Given the description of an element on the screen output the (x, y) to click on. 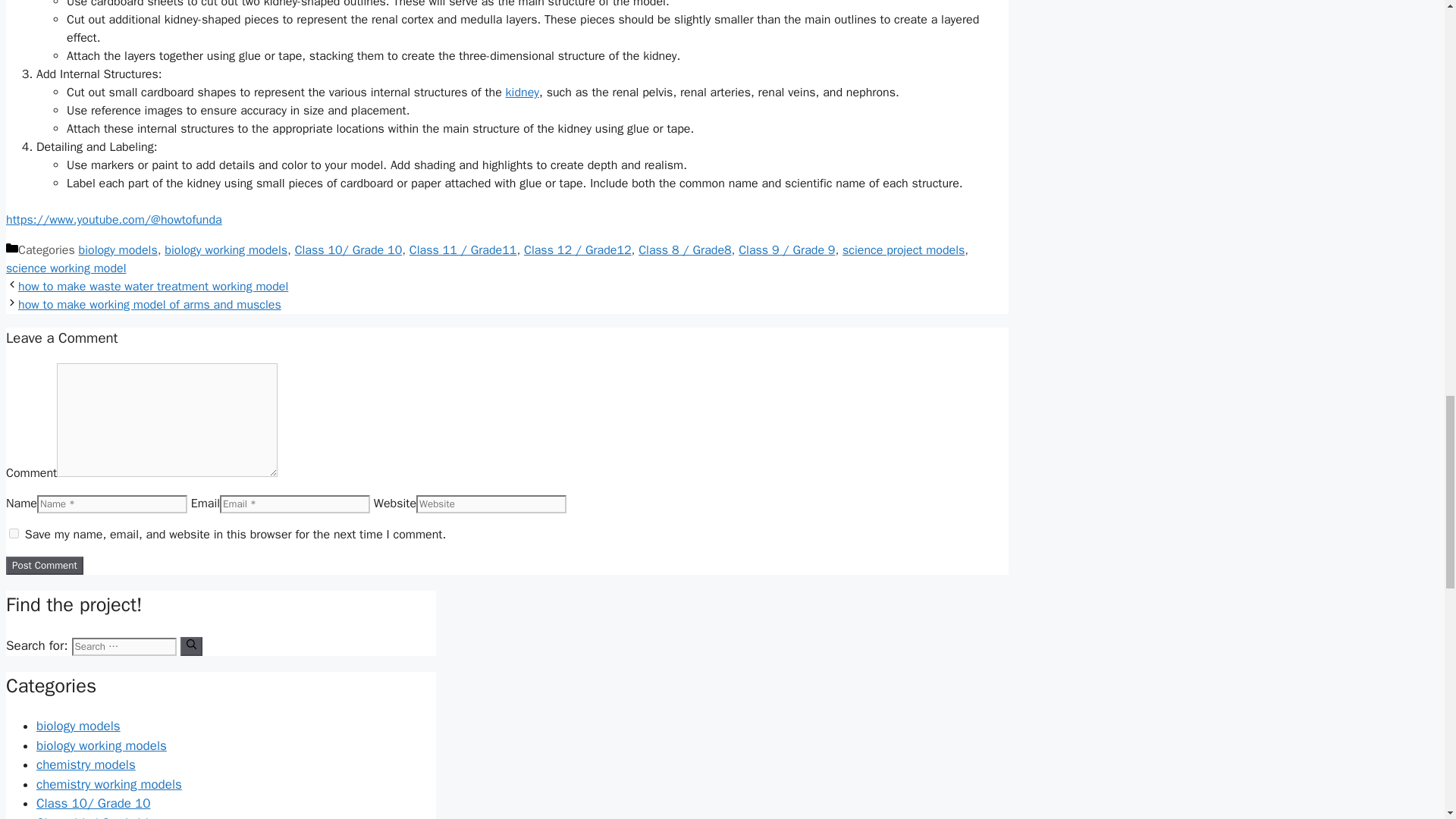
chemistry models (85, 764)
how to make waste water treatment working model (152, 286)
science project models (903, 249)
chemistry working models (109, 784)
Post Comment (43, 565)
biology models (117, 249)
science working model (65, 268)
biology working models (225, 249)
Post Comment (43, 565)
biology models (78, 725)
